Given the description of an element on the screen output the (x, y) to click on. 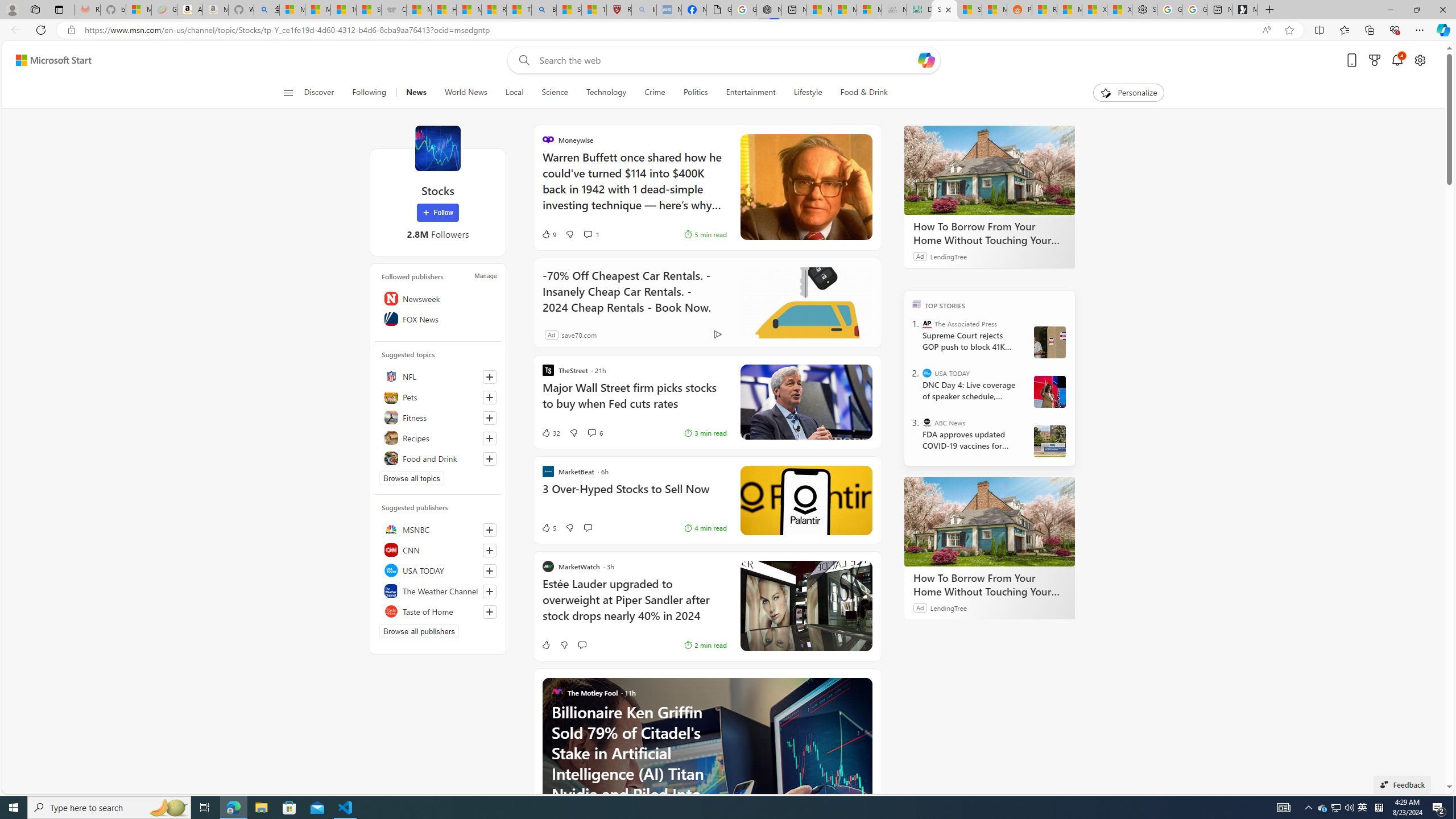
Recipes - MSN (493, 9)
Food and Drink (437, 458)
Follow this source (489, 611)
See more (864, 686)
How To Borrow From Your Home Without Touching Your Mortgage (988, 584)
Stocks (437, 148)
Browse all topics (412, 477)
Class: button-glyph (287, 92)
Start the conversation (581, 645)
Google Analytics Opt-out Browser Add-on Download Page (718, 9)
